Given the description of an element on the screen output the (x, y) to click on. 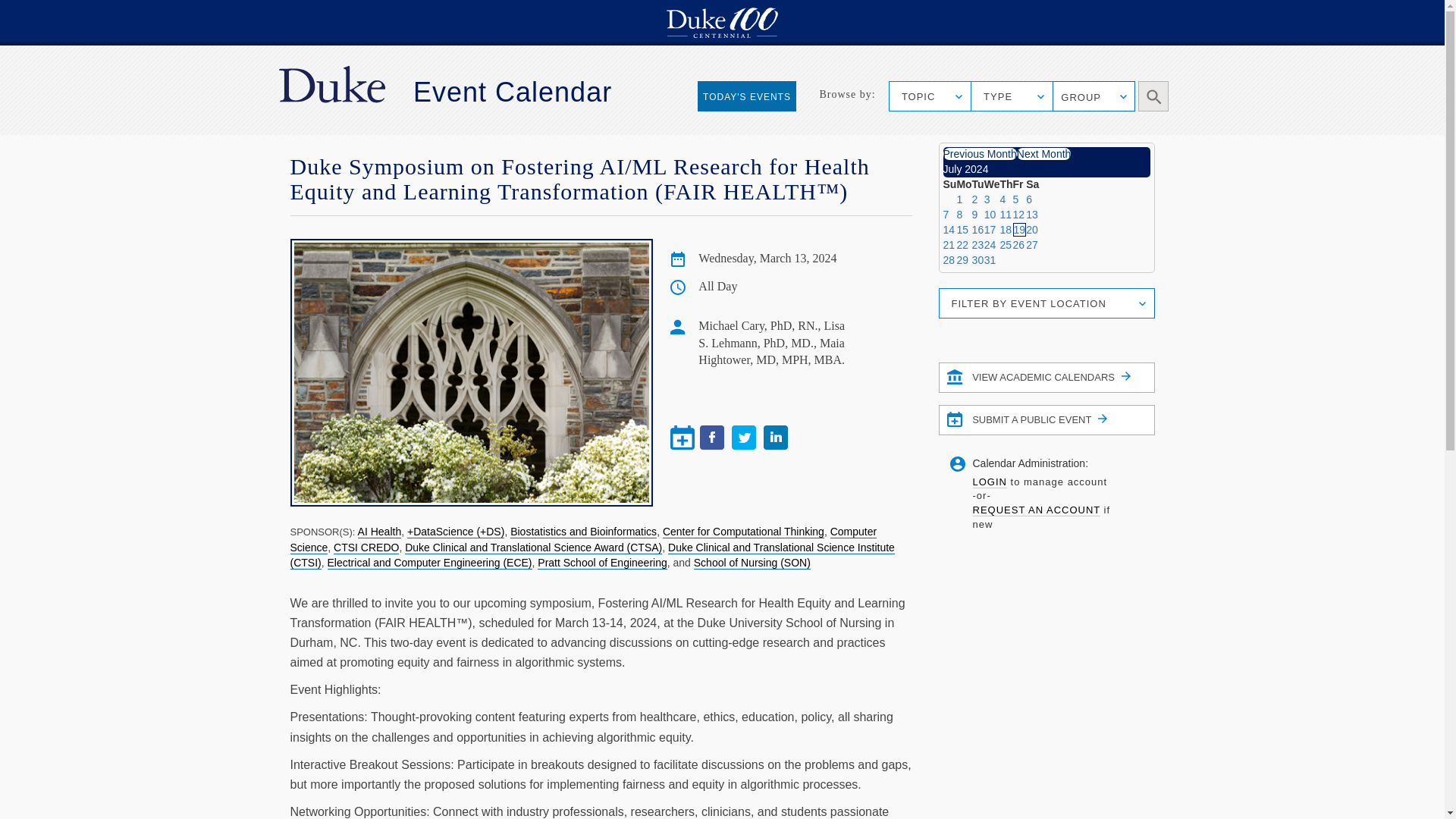
CTSI CREDO (365, 547)
Saturday (1032, 184)
11 (1004, 214)
Wednesday (992, 184)
Center for Computational Thinking (743, 531)
Event Image (470, 372)
10 (989, 214)
Pratt School of Engineering (601, 562)
Event Calendar (512, 91)
Next (1043, 153)
Prev (979, 153)
Sunday (949, 184)
Biostatistics and Bioinformatics (583, 531)
Date (678, 258)
